Given the description of an element on the screen output the (x, y) to click on. 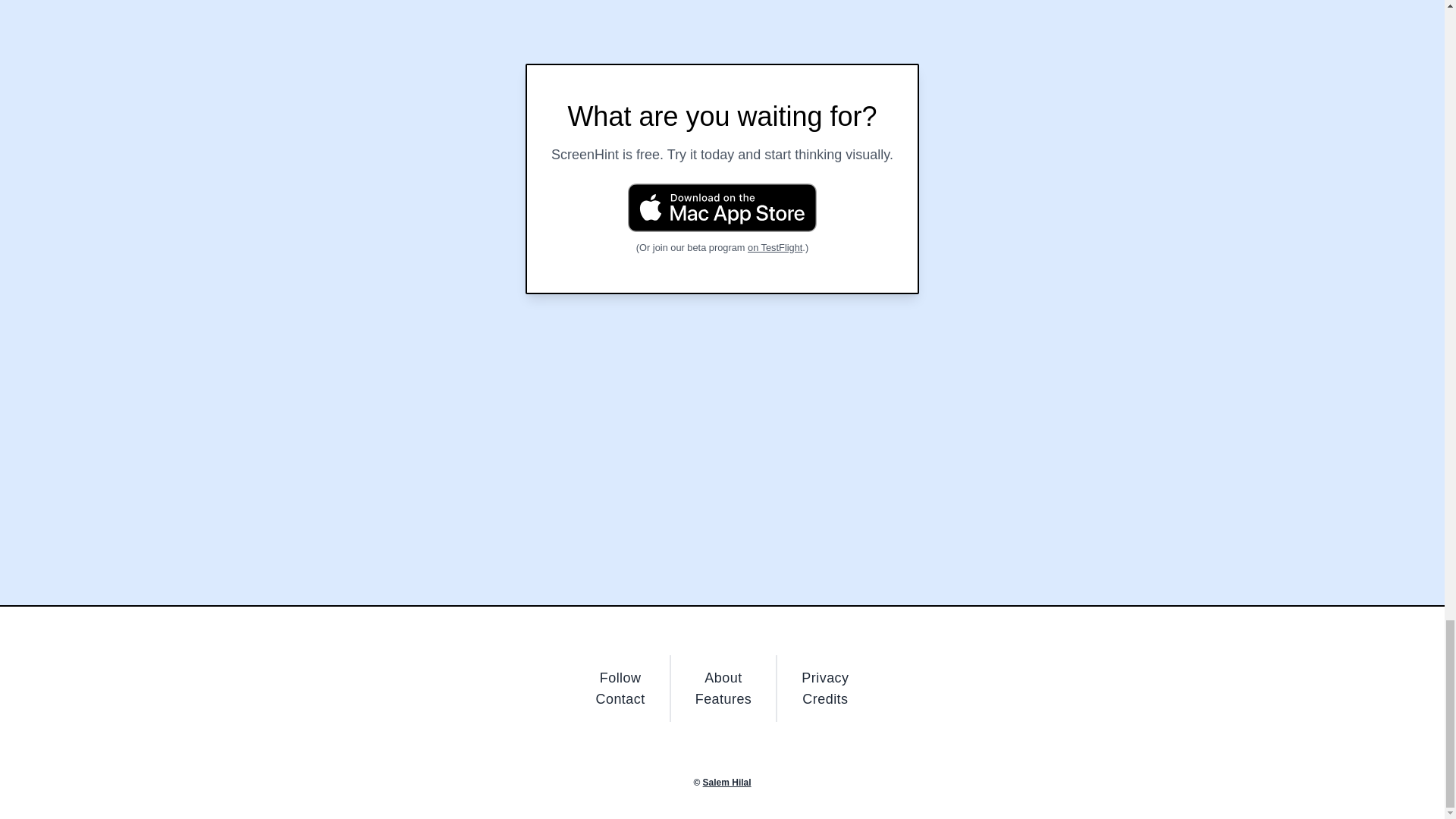
Salem Hilal (727, 782)
Credits (824, 698)
Contact (620, 698)
on TestFlight (775, 247)
Privacy (825, 677)
Features (723, 698)
About (722, 677)
Follow (620, 677)
